Given the description of an element on the screen output the (x, y) to click on. 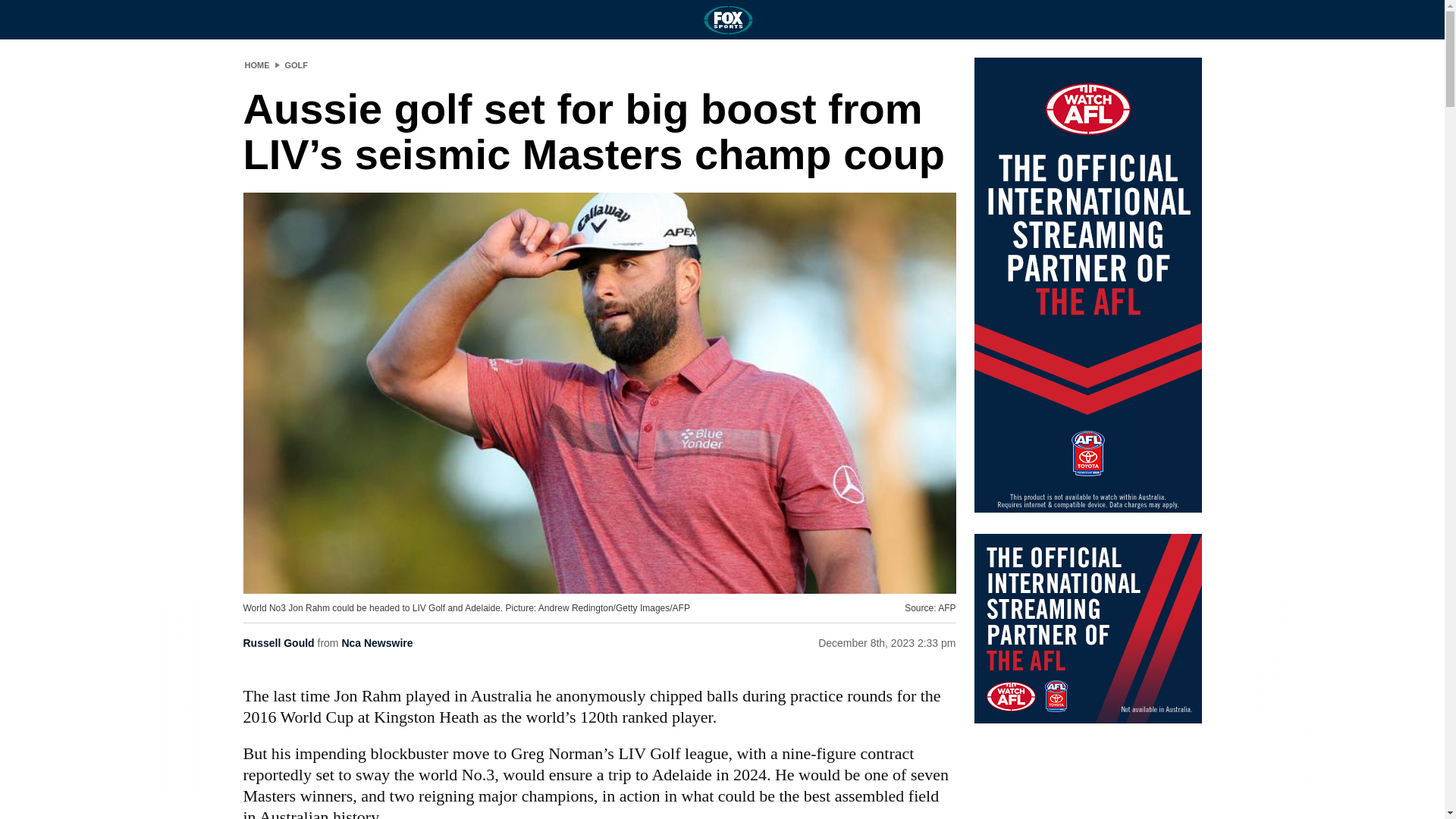
3rd party ad content (1087, 628)
HOME (256, 64)
GOLF (296, 64)
